Given the description of an element on the screen output the (x, y) to click on. 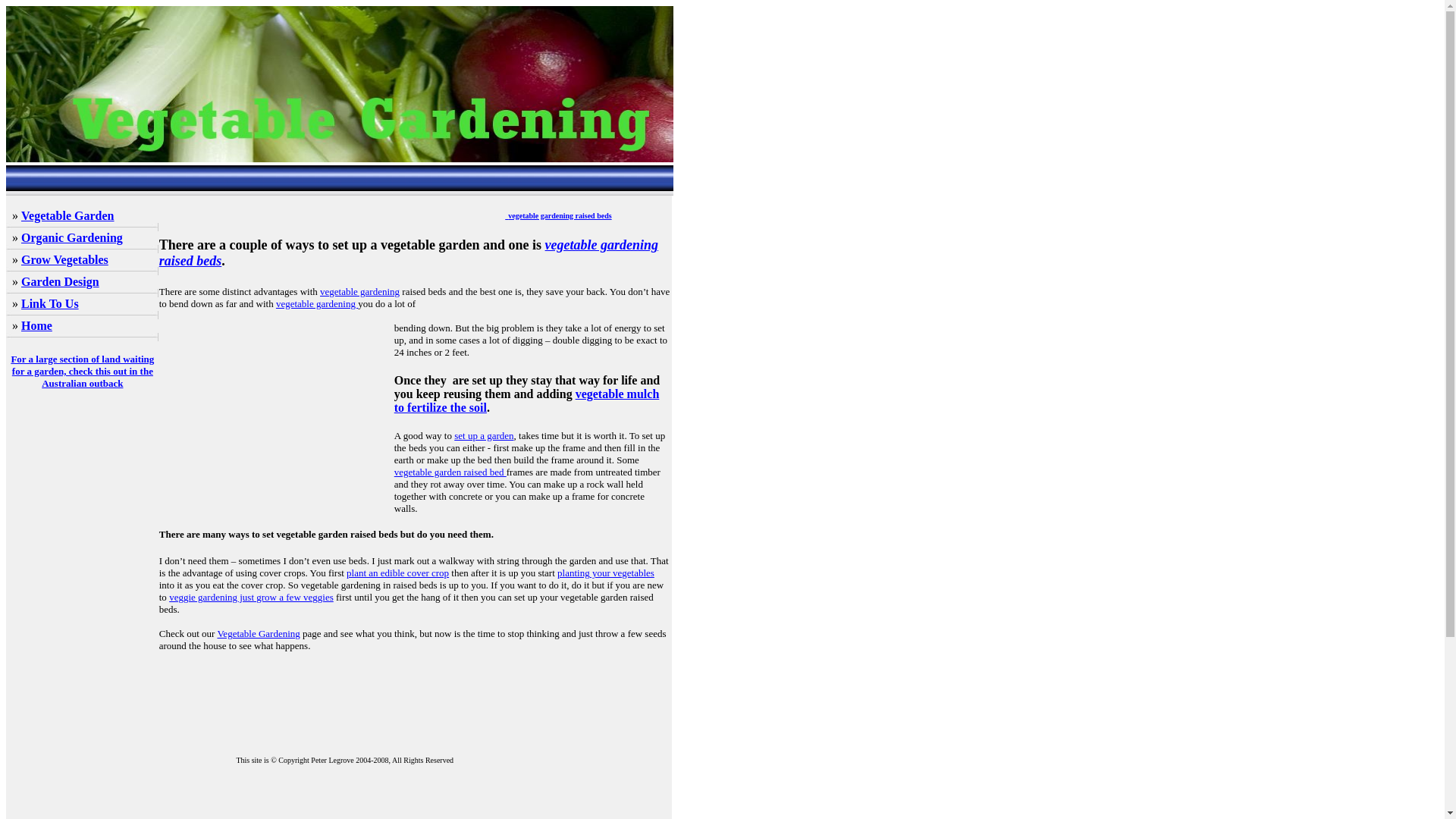
veggie gardening just grow a few veggies (250, 596)
vegetable gardening (317, 303)
Grow Vegetables (64, 259)
Vegetable Garden (68, 215)
Home (36, 325)
plant an edible cover crop (397, 572)
set up a garden (483, 435)
Vegetable Gardening (257, 633)
vegetable gardening raised beds (408, 252)
